Given the description of an element on the screen output the (x, y) to click on. 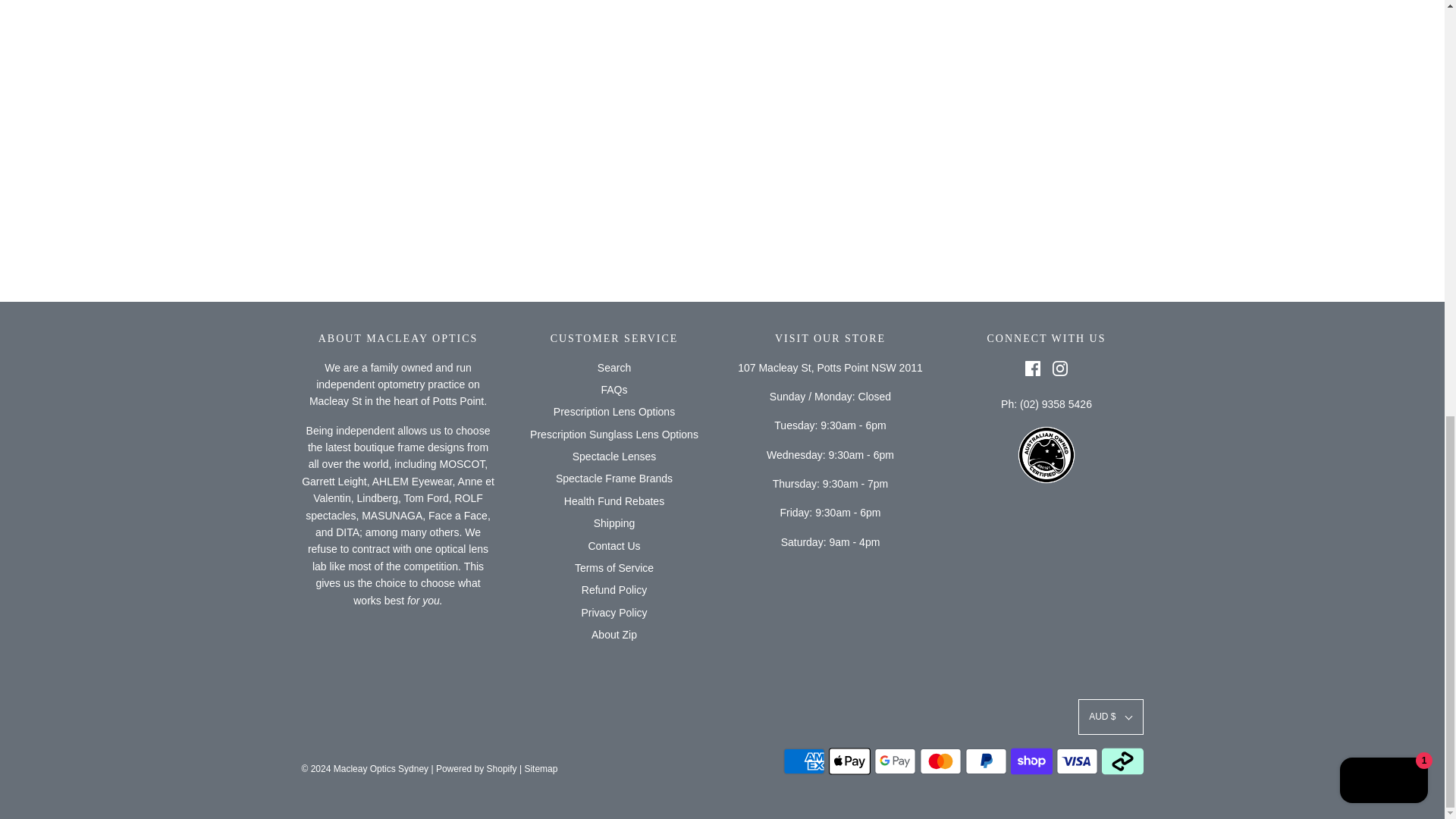
Apple Pay (848, 761)
PayPal (984, 761)
Google Pay (894, 761)
Visa (1076, 761)
American Express (803, 761)
Facebook icon (1033, 368)
Shop Pay (1030, 761)
Mastercard (939, 761)
Instagram icon (1059, 368)
